Given the description of an element on the screen output the (x, y) to click on. 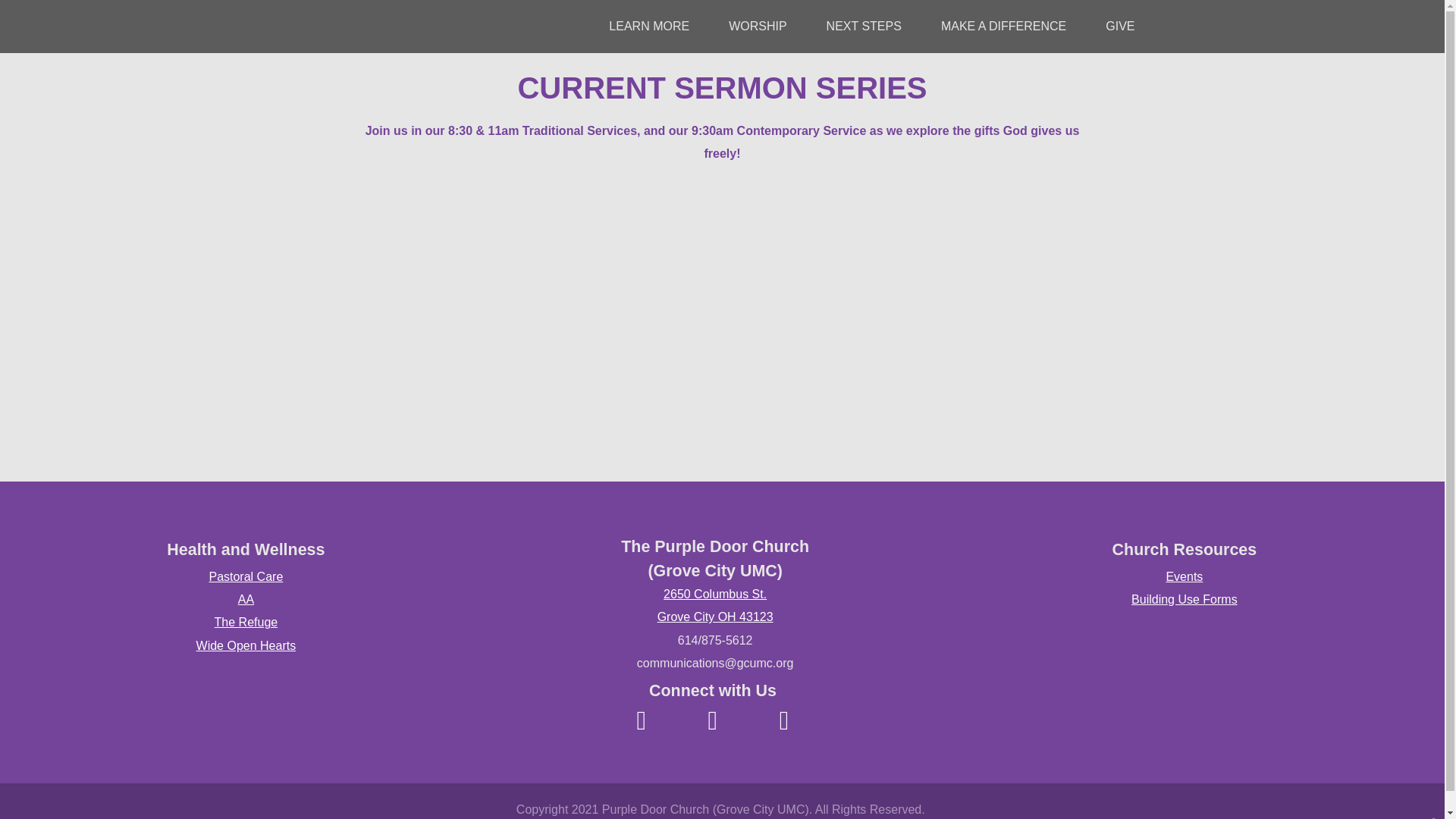
NEXT STEPS (864, 26)
WORSHIP (757, 26)
LEARN MORE (648, 26)
MAKE A DIFFERENCE (1002, 26)
